Given the description of an element on the screen output the (x, y) to click on. 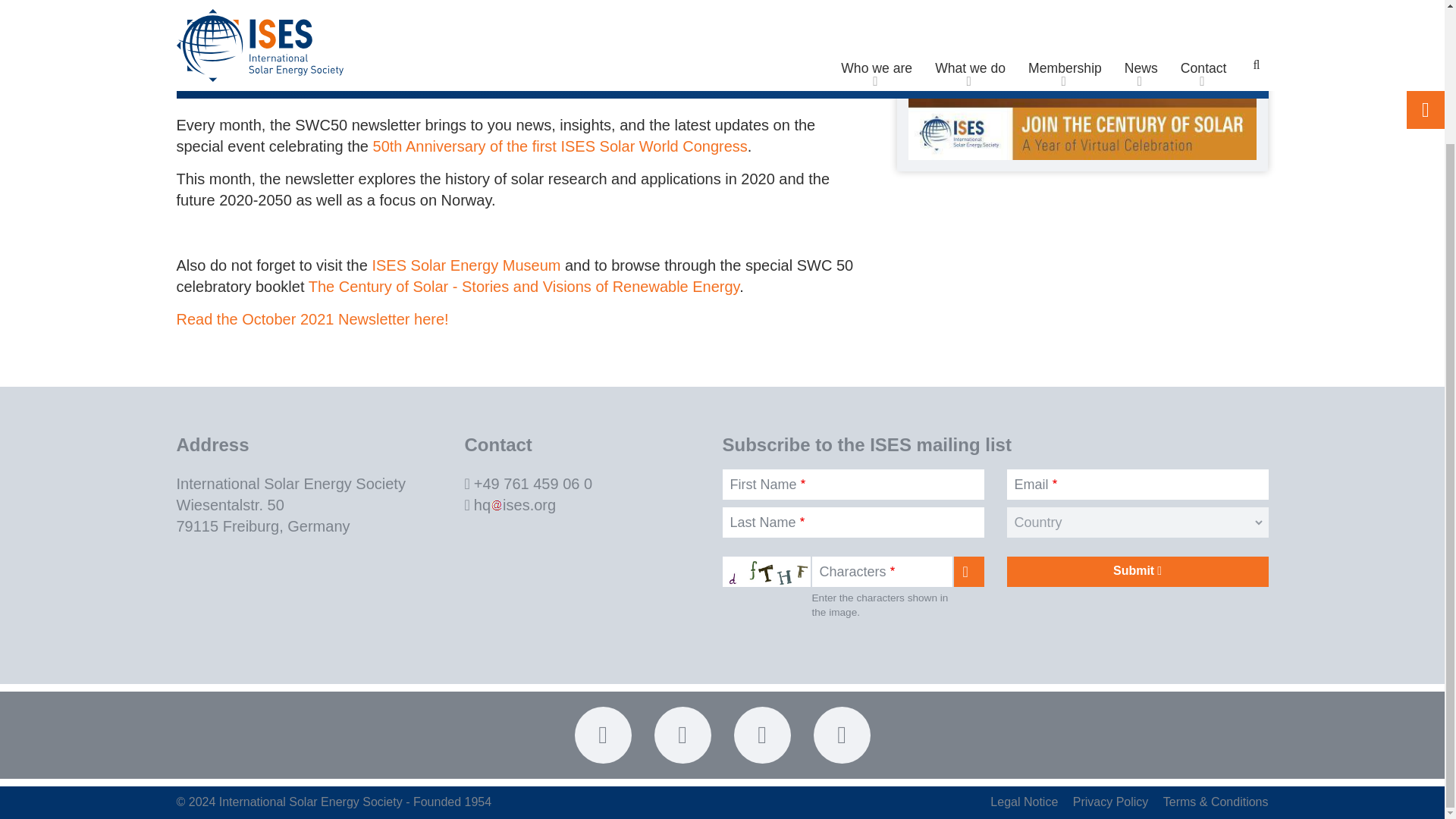
Image CAPTCHA (765, 571)
